Given the description of an element on the screen output the (x, y) to click on. 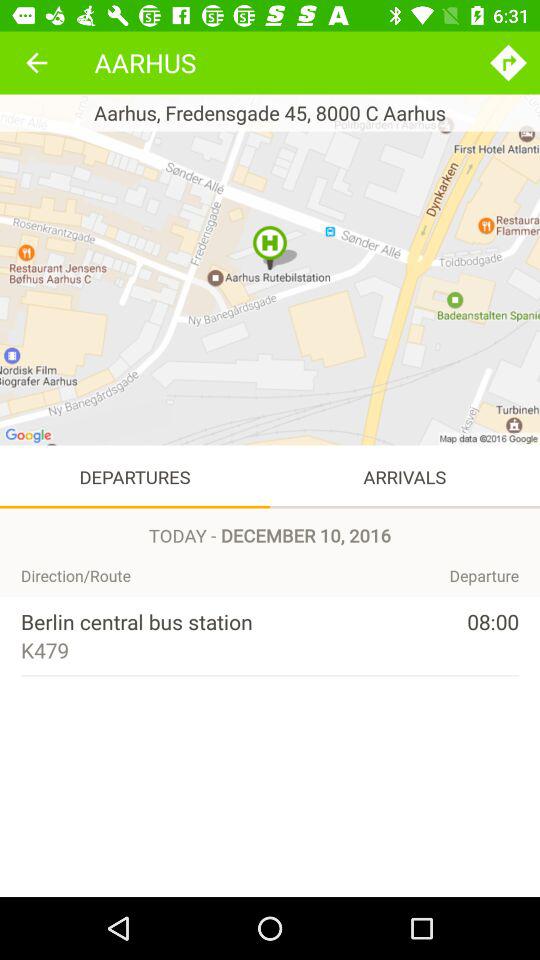
press the item next to the aarhus icon (508, 62)
